Given the description of an element on the screen output the (x, y) to click on. 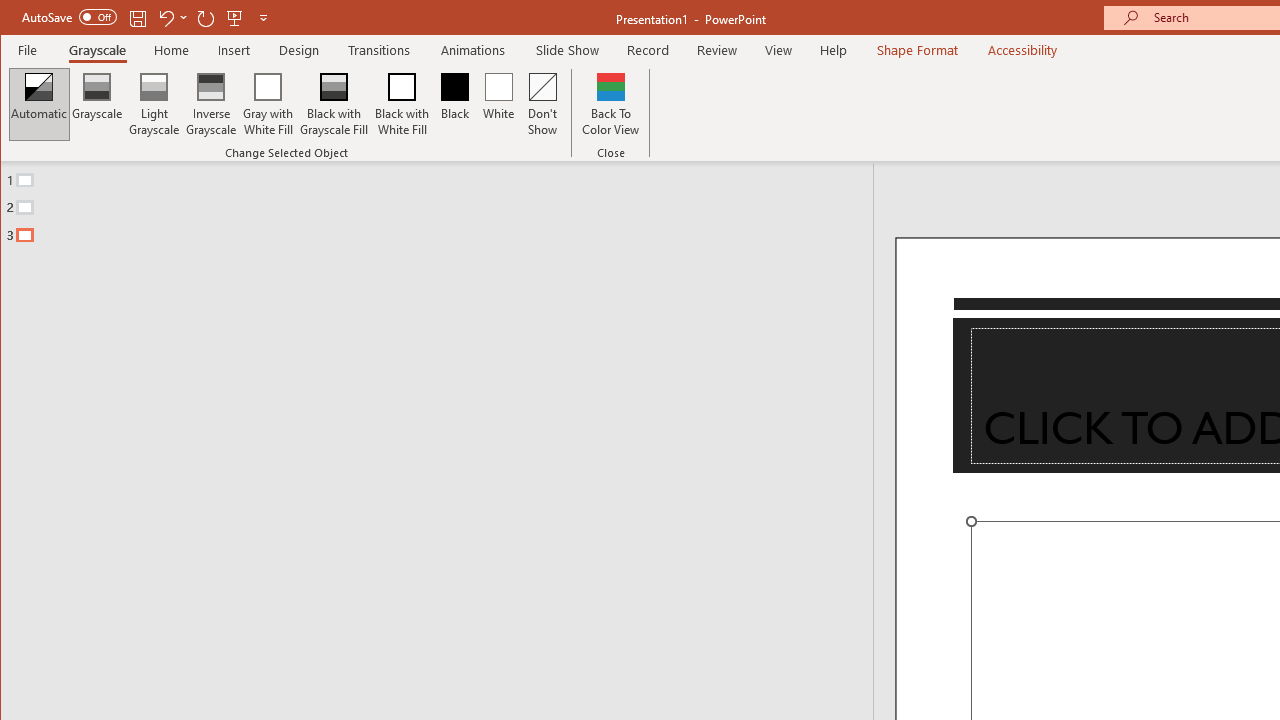
Automatic (39, 104)
Grayscale (97, 50)
Back To Color View (610, 104)
Outline (445, 203)
Black (454, 104)
